Given the description of an element on the screen output the (x, y) to click on. 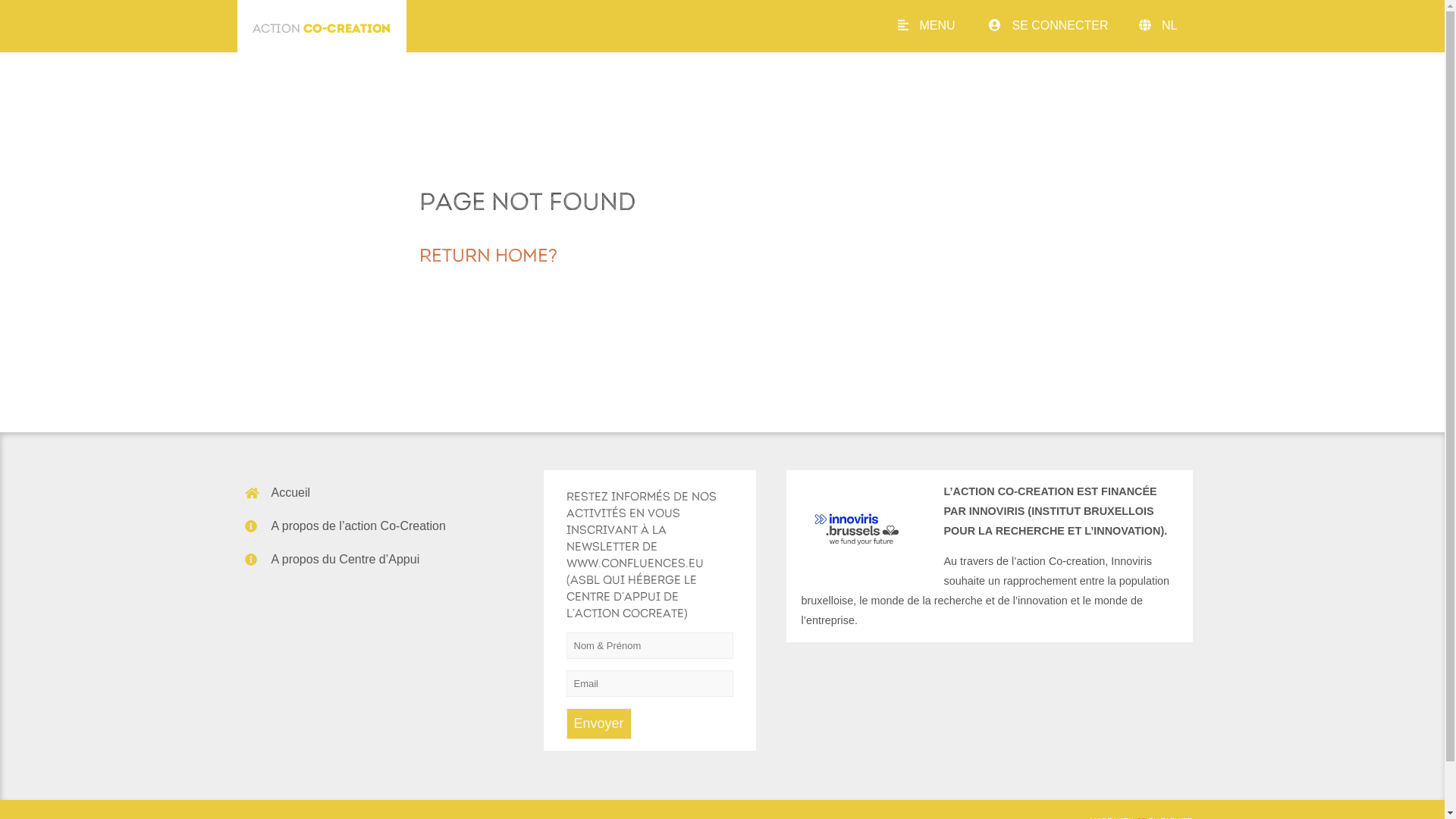
MENU Element type: text (941, 26)
NL Element type: text (1184, 26)
SE CONNECTER Element type: text (1063, 26)
Return home? Element type: text (487, 253)
Envoyer Element type: text (597, 723)
Accueil Element type: text (290, 492)
